Given the description of an element on the screen output the (x, y) to click on. 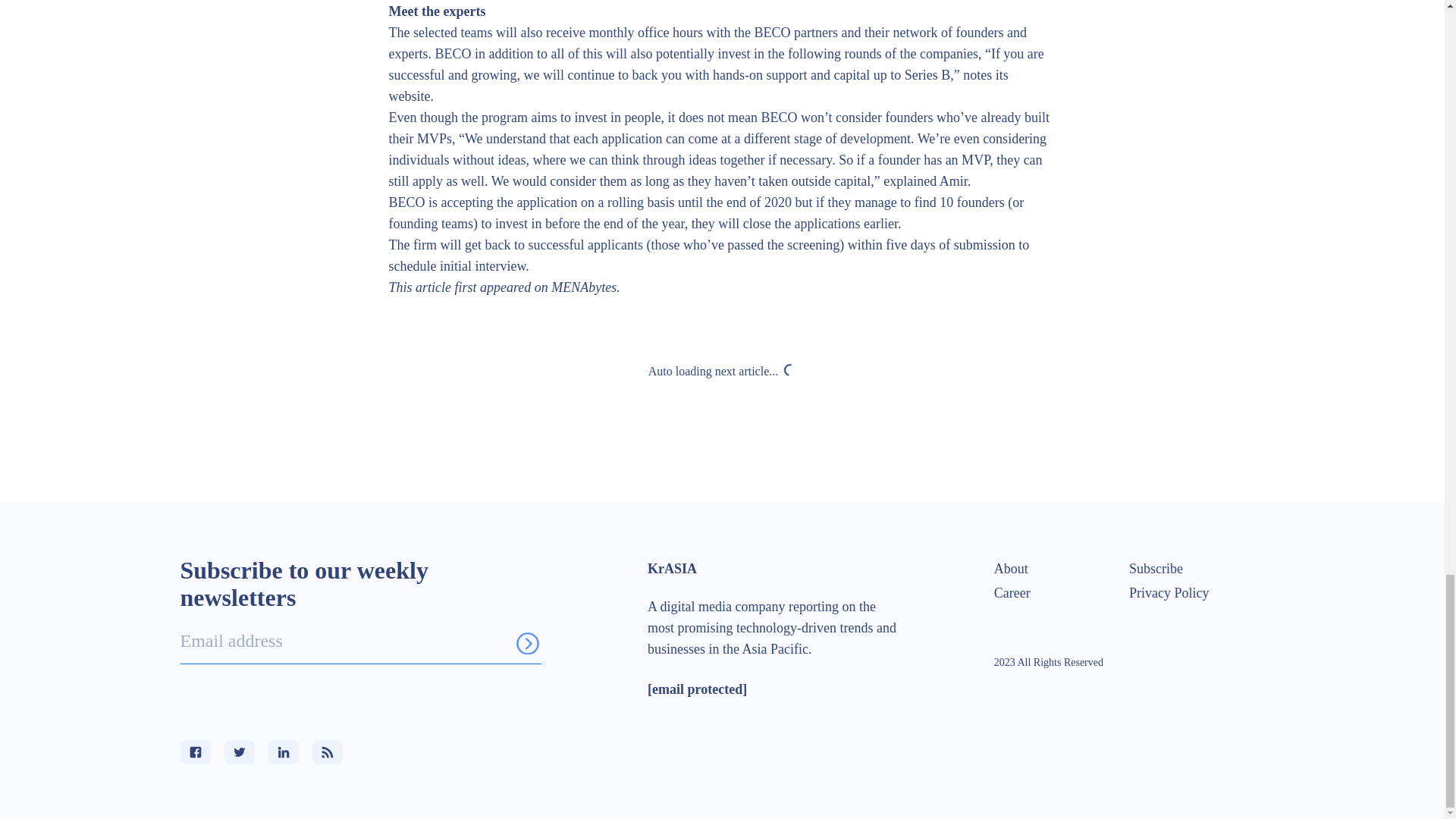
MENAbytes (583, 287)
